Given the description of an element on the screen output the (x, y) to click on. 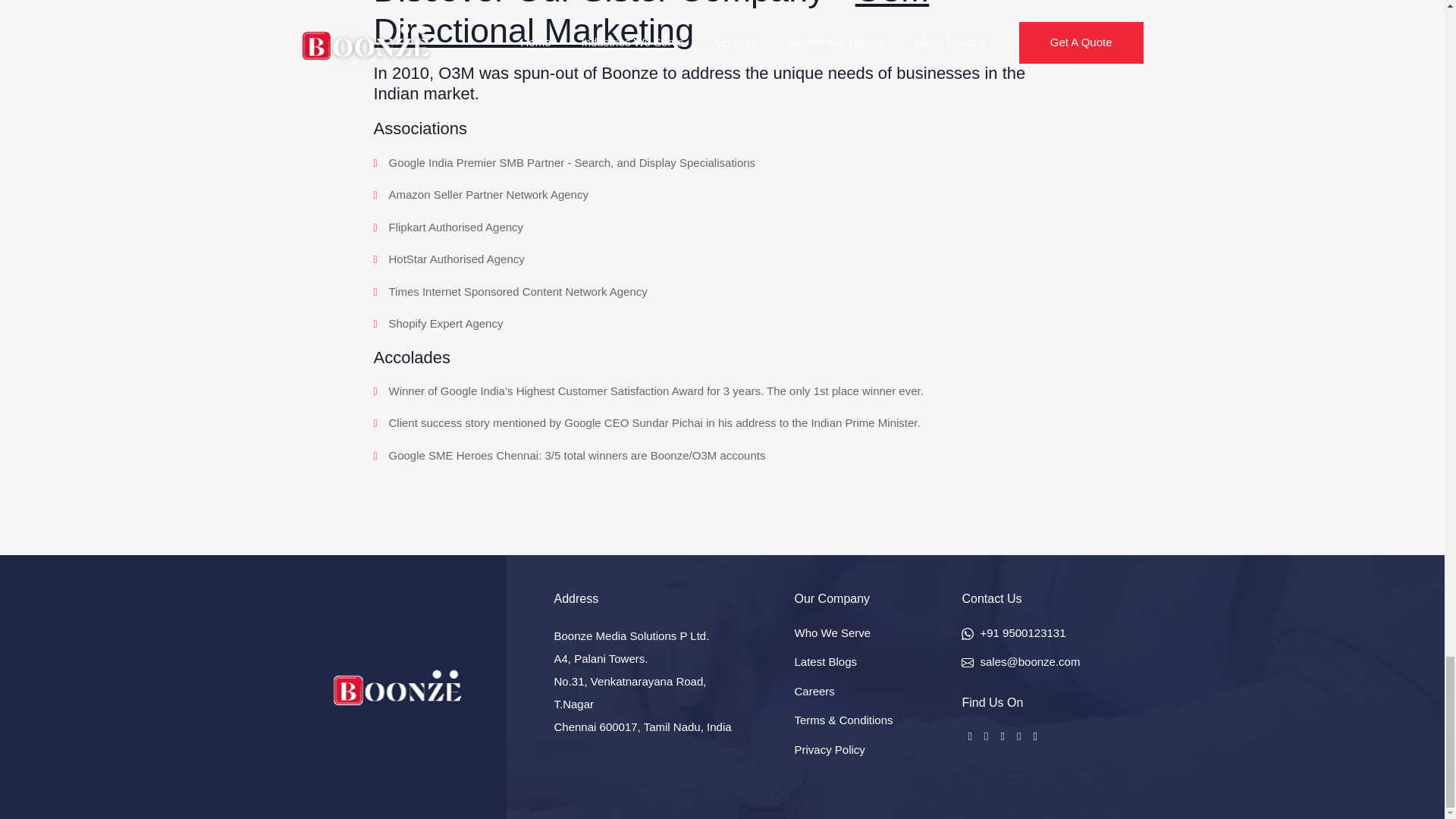
Privacy Policy (828, 748)
O3M Directional Marketing (650, 24)
Who We Serve (831, 632)
Careers (813, 690)
Latest Blogs (825, 661)
